Given the description of an element on the screen output the (x, y) to click on. 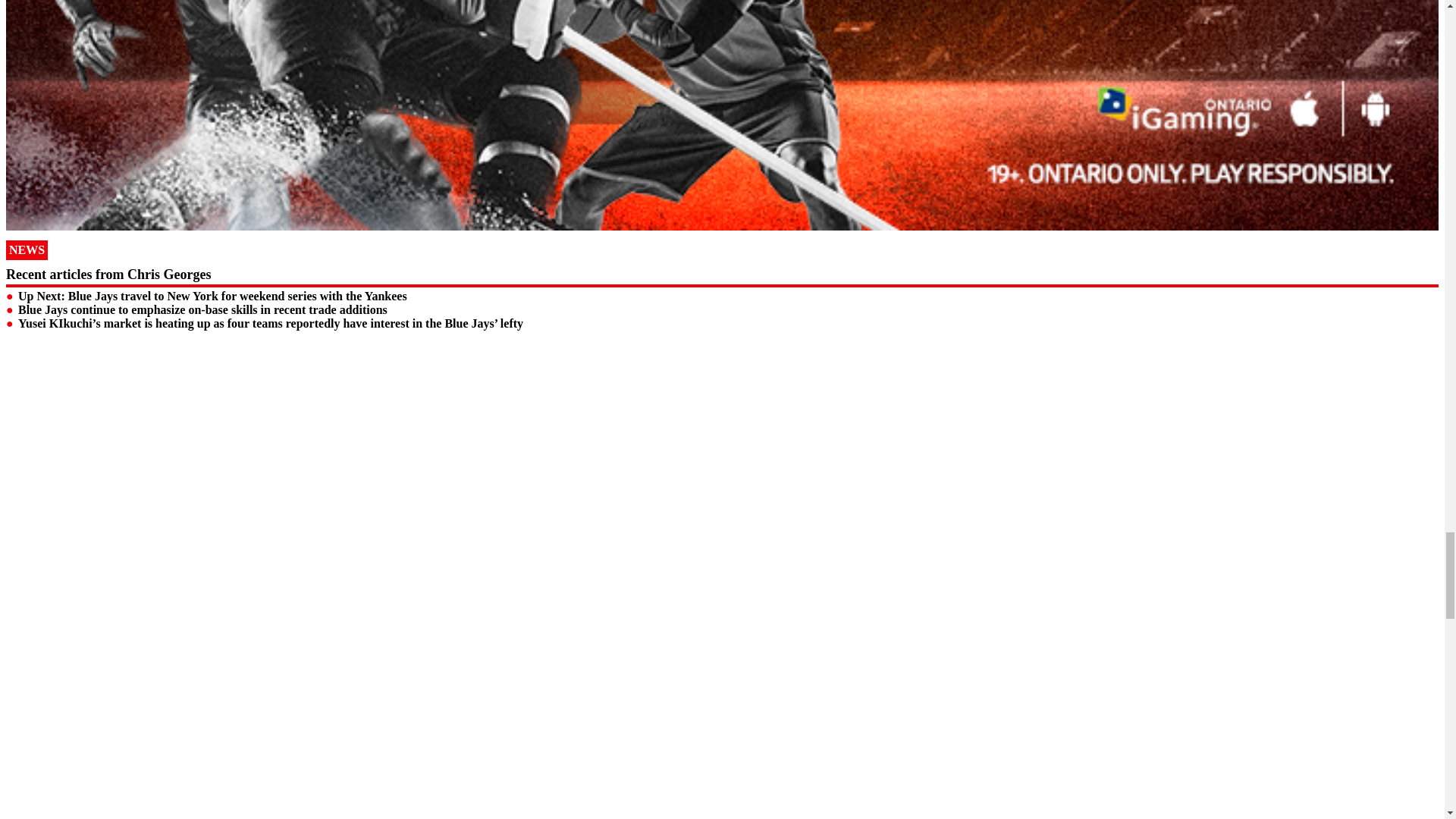
NEWS (26, 250)
